Given the description of an element on the screen output the (x, y) to click on. 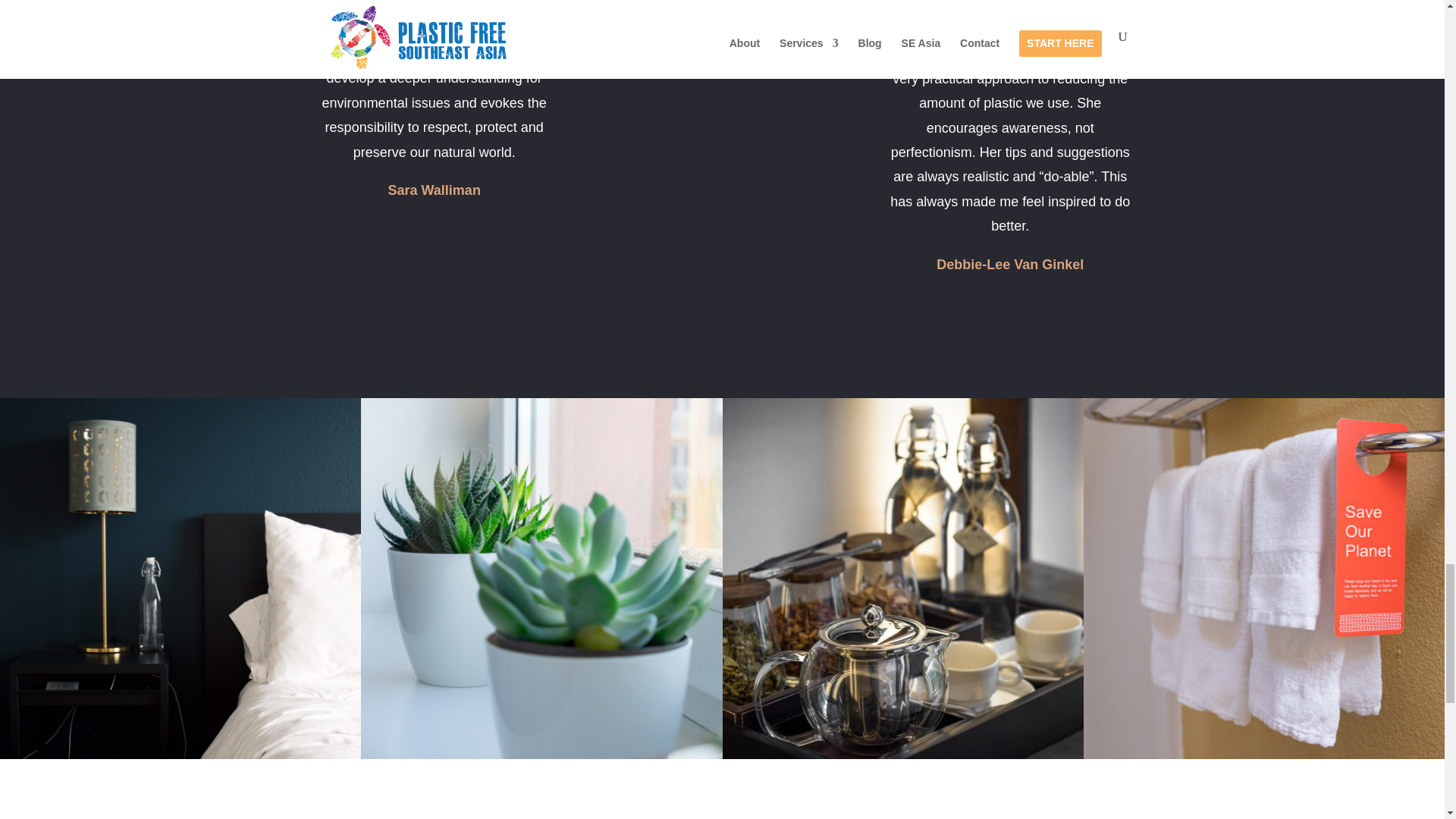
tea-water-jaya-house (902, 578)
rhema-kallianpur-uocSnWMhnAs-unsplash (180, 578)
katka-pavlickova-tdr2PRYBP94-unsplash (541, 578)
